Given the description of an element on the screen output the (x, y) to click on. 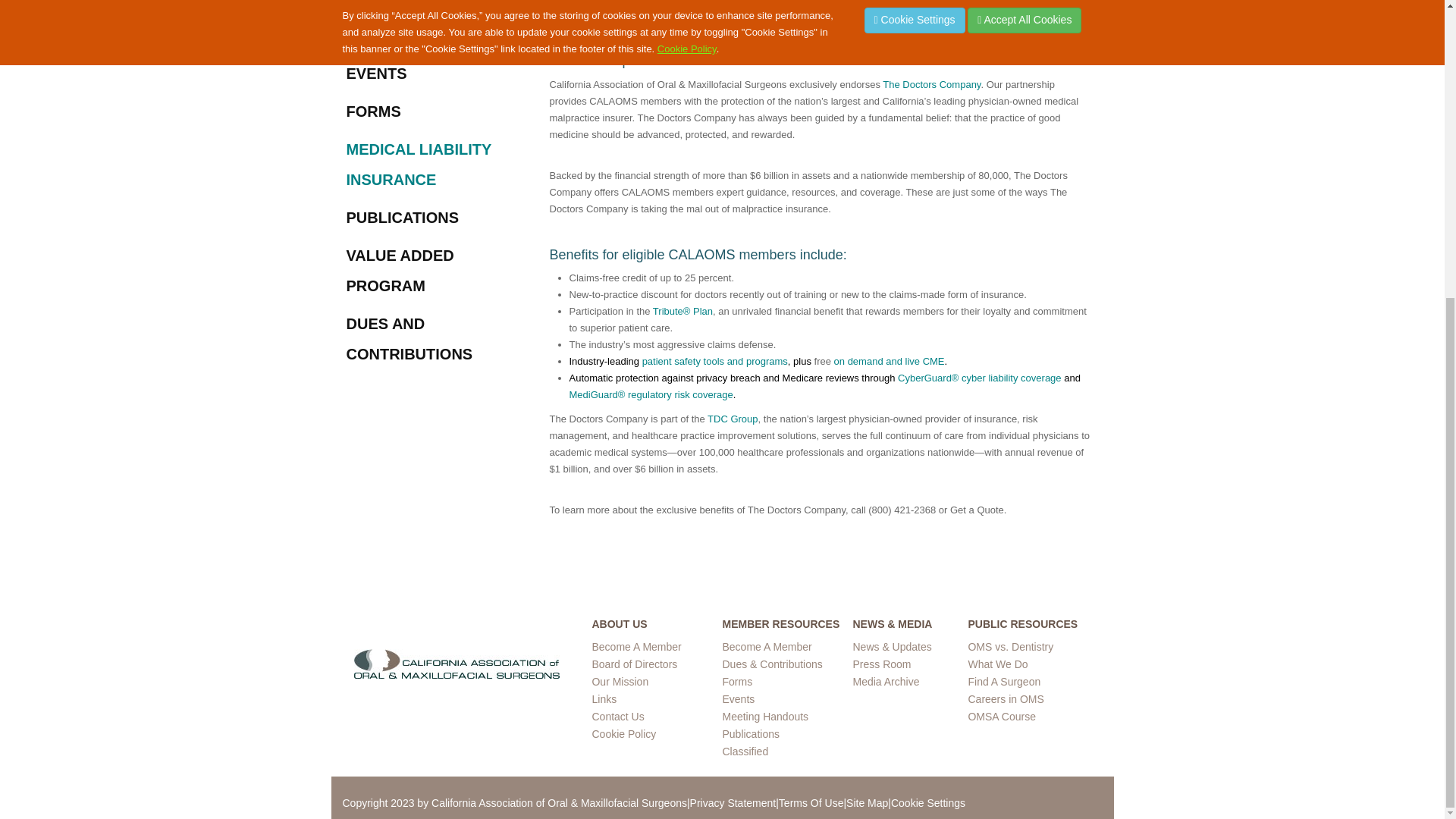
Useful Links (603, 698)
Press Room (881, 664)
Classifieds Page (745, 751)
Contact Us (617, 716)
The Doctors Company Logo (653, 13)
Official Newsletter of CALAOMS (750, 734)
Become A Member (636, 646)
Cookie Policy (623, 734)
OFSOC Board Of Directors (634, 664)
Become A Member (766, 646)
OFSOC Home Page (456, 663)
Our Mission (619, 681)
